Given the description of an element on the screen output the (x, y) to click on. 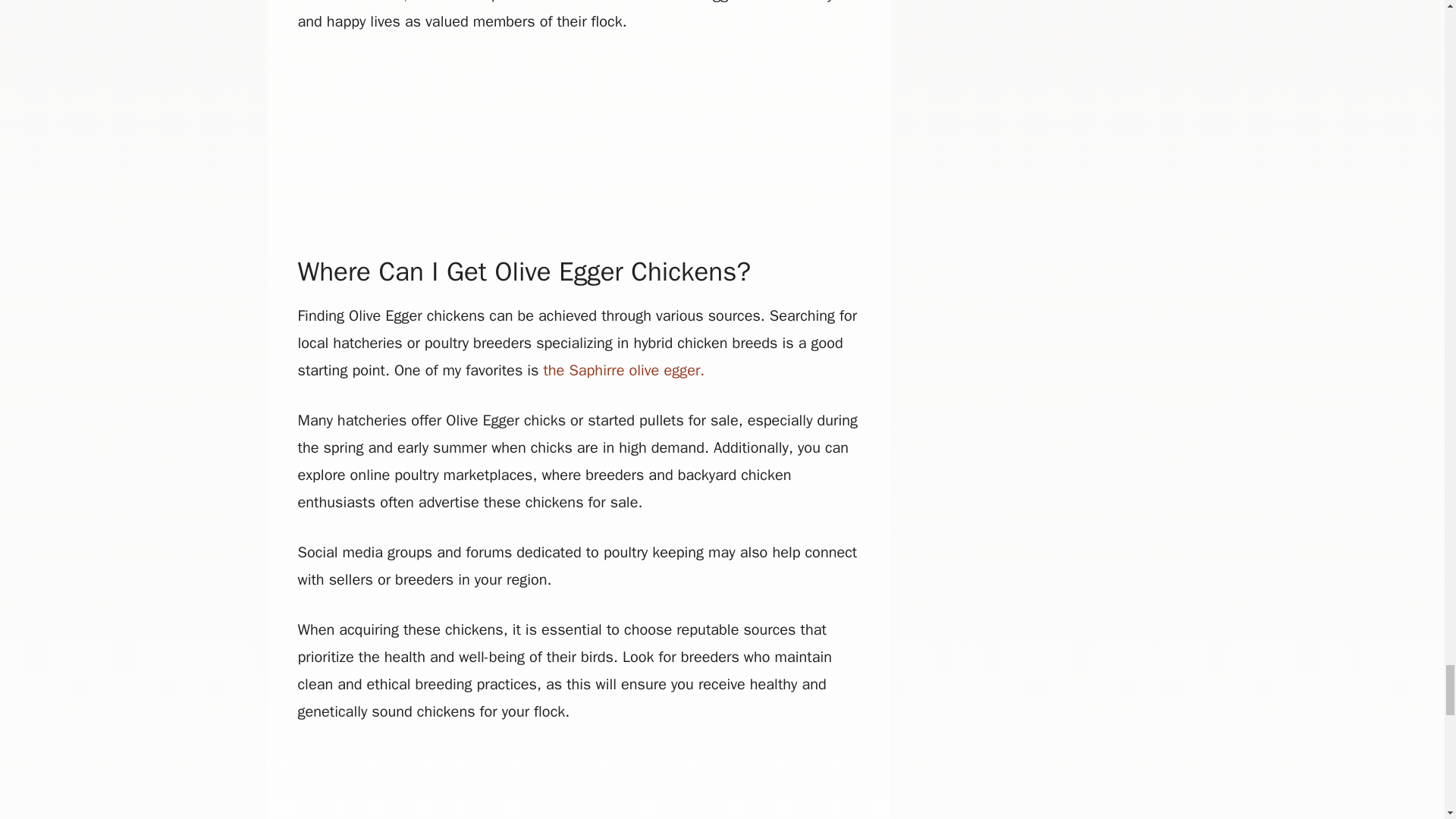
the Saphirre olive egger. (623, 370)
